Given the description of an element on the screen output the (x, y) to click on. 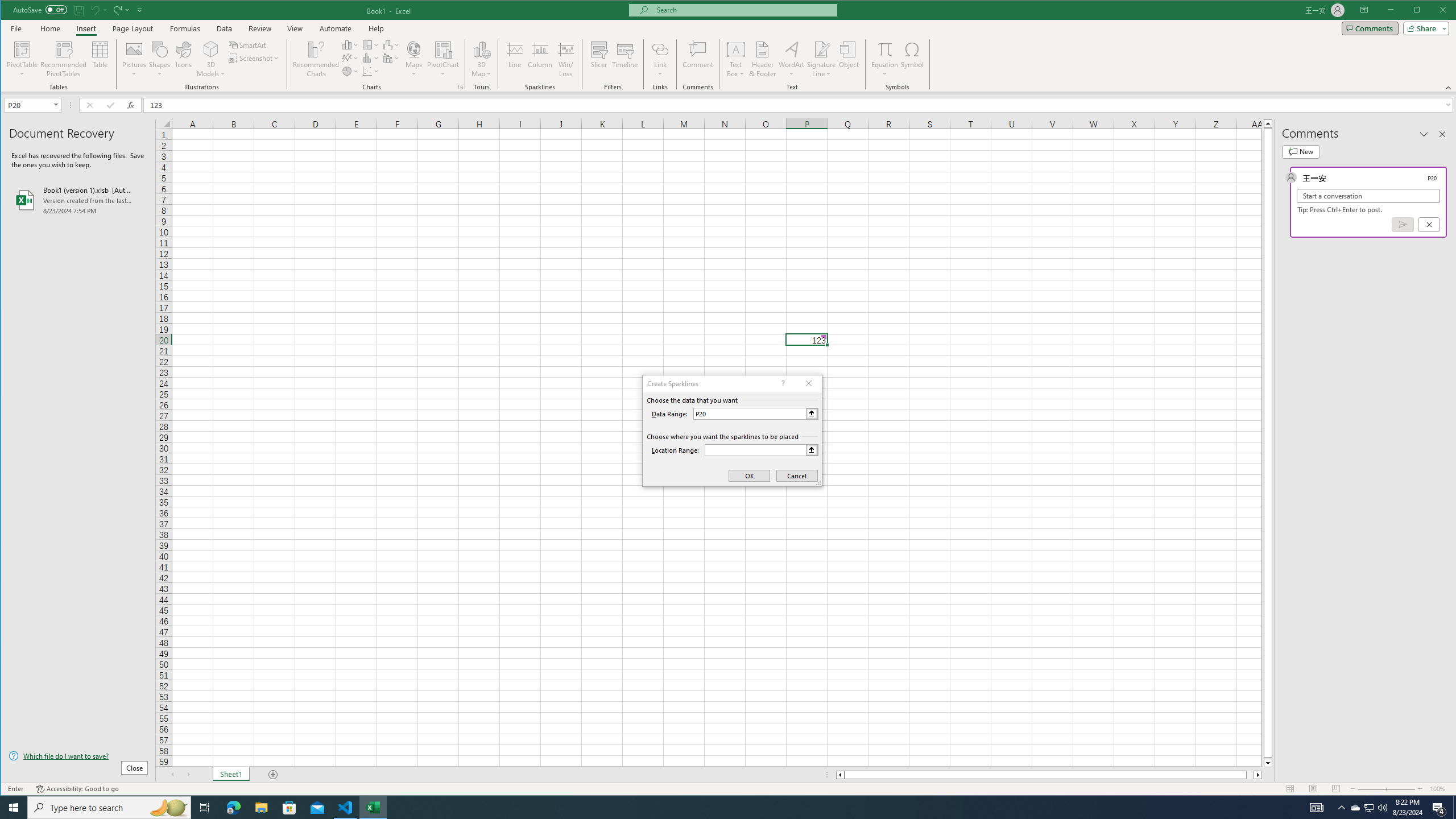
Insert Hierarchy Chart (371, 44)
Maps (413, 59)
Insert Scatter (X, Y) or Bubble Chart (371, 70)
Equation (884, 59)
Pictures (134, 59)
Line (514, 59)
Start a conversation (1368, 195)
